Given the description of an element on the screen output the (x, y) to click on. 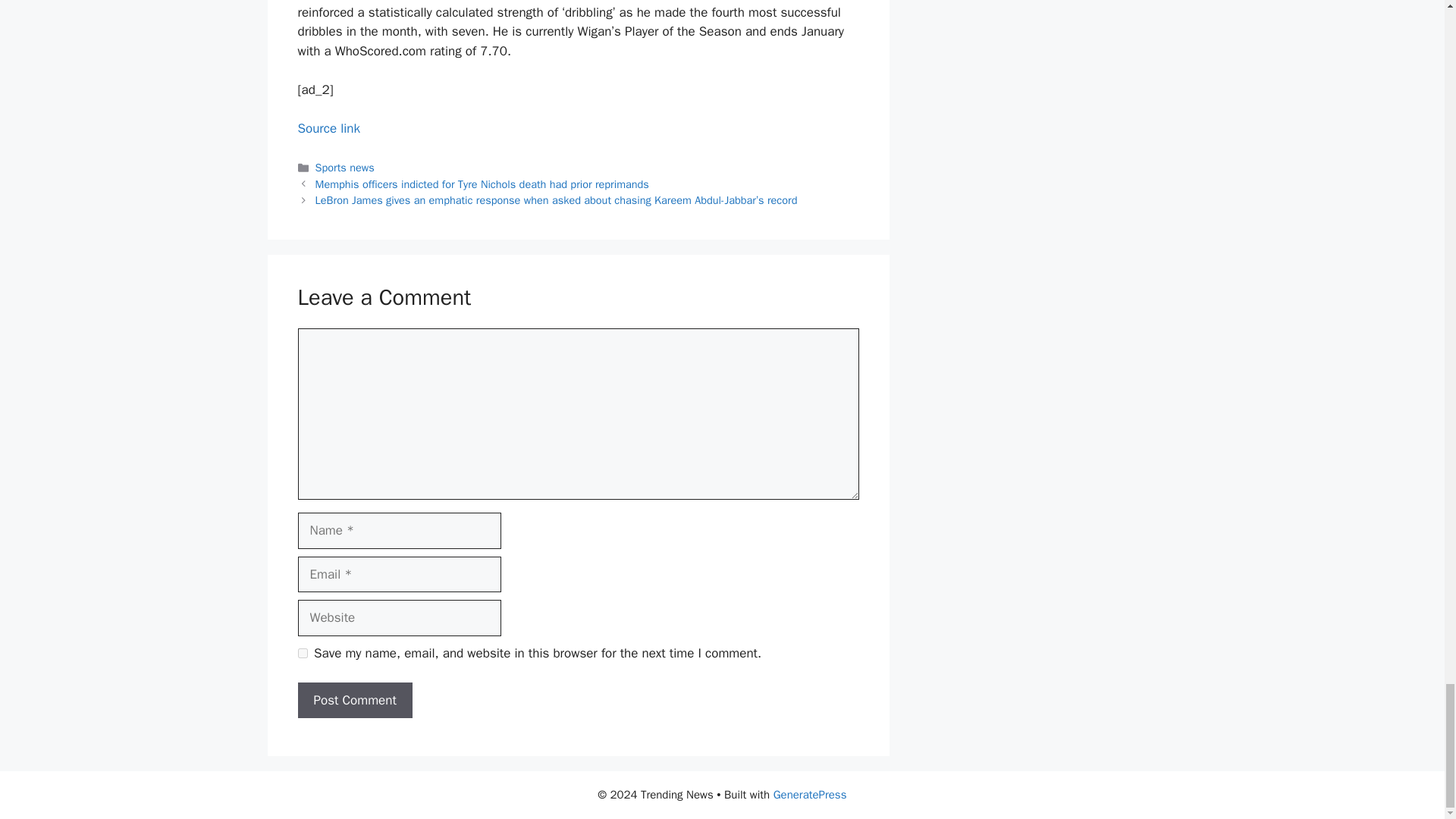
Post Comment (354, 700)
Post Comment (354, 700)
Sports news (344, 167)
yes (302, 653)
Source link (328, 128)
